Given the description of an element on the screen output the (x, y) to click on. 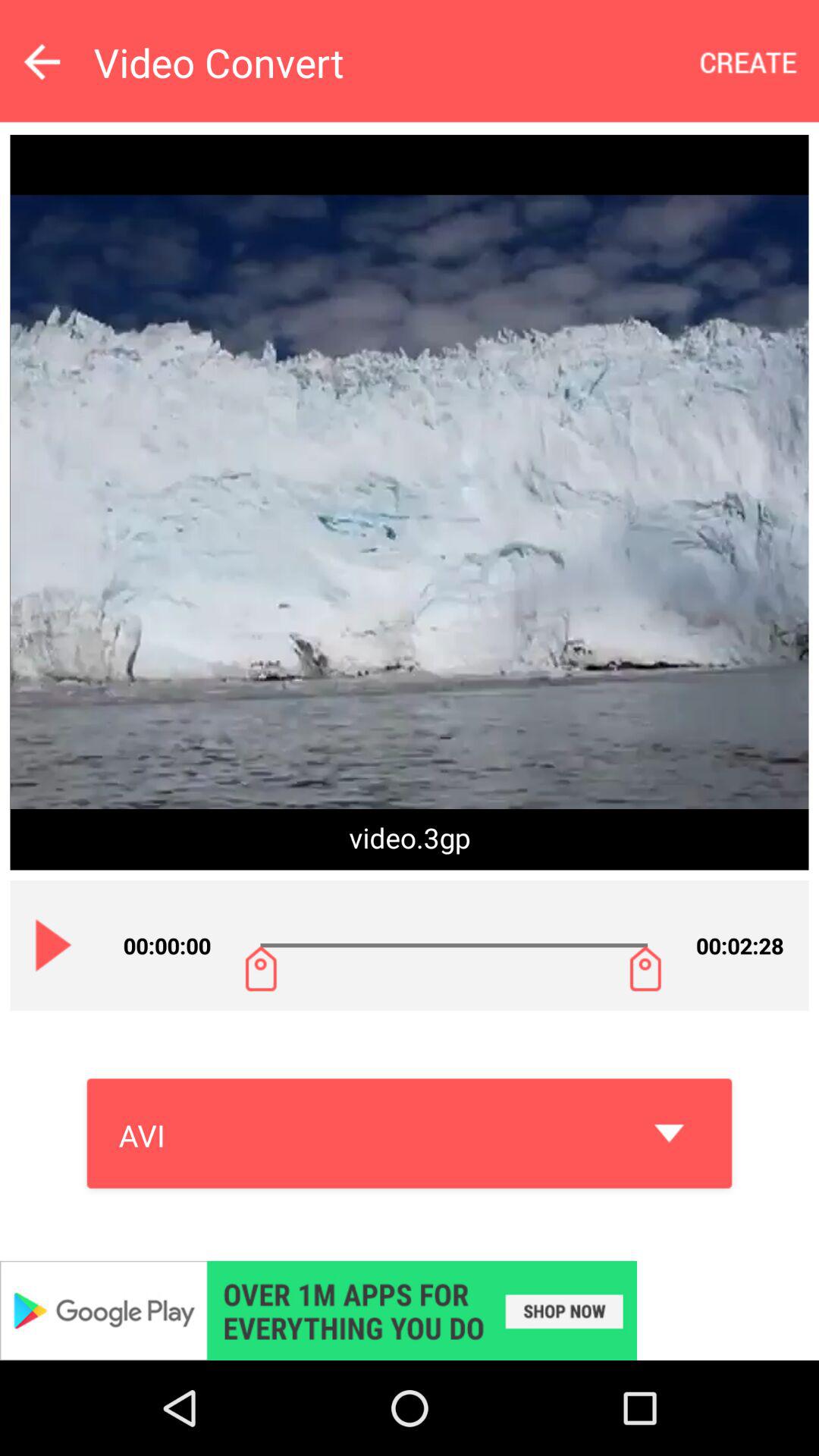
view advertisements (409, 1310)
